Given the description of an element on the screen output the (x, y) to click on. 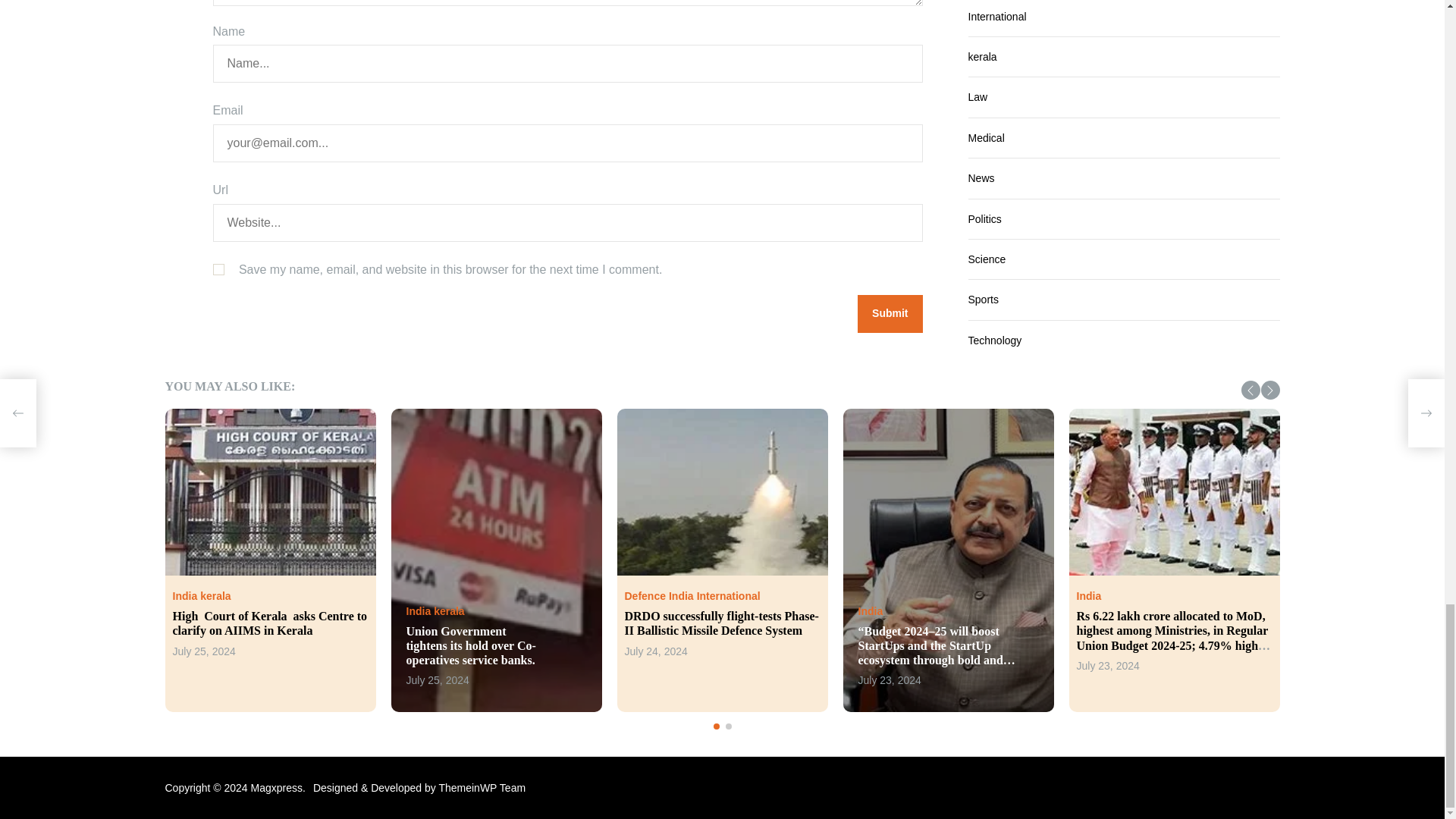
yes (218, 269)
Submit (889, 313)
